Given the description of an element on the screen output the (x, y) to click on. 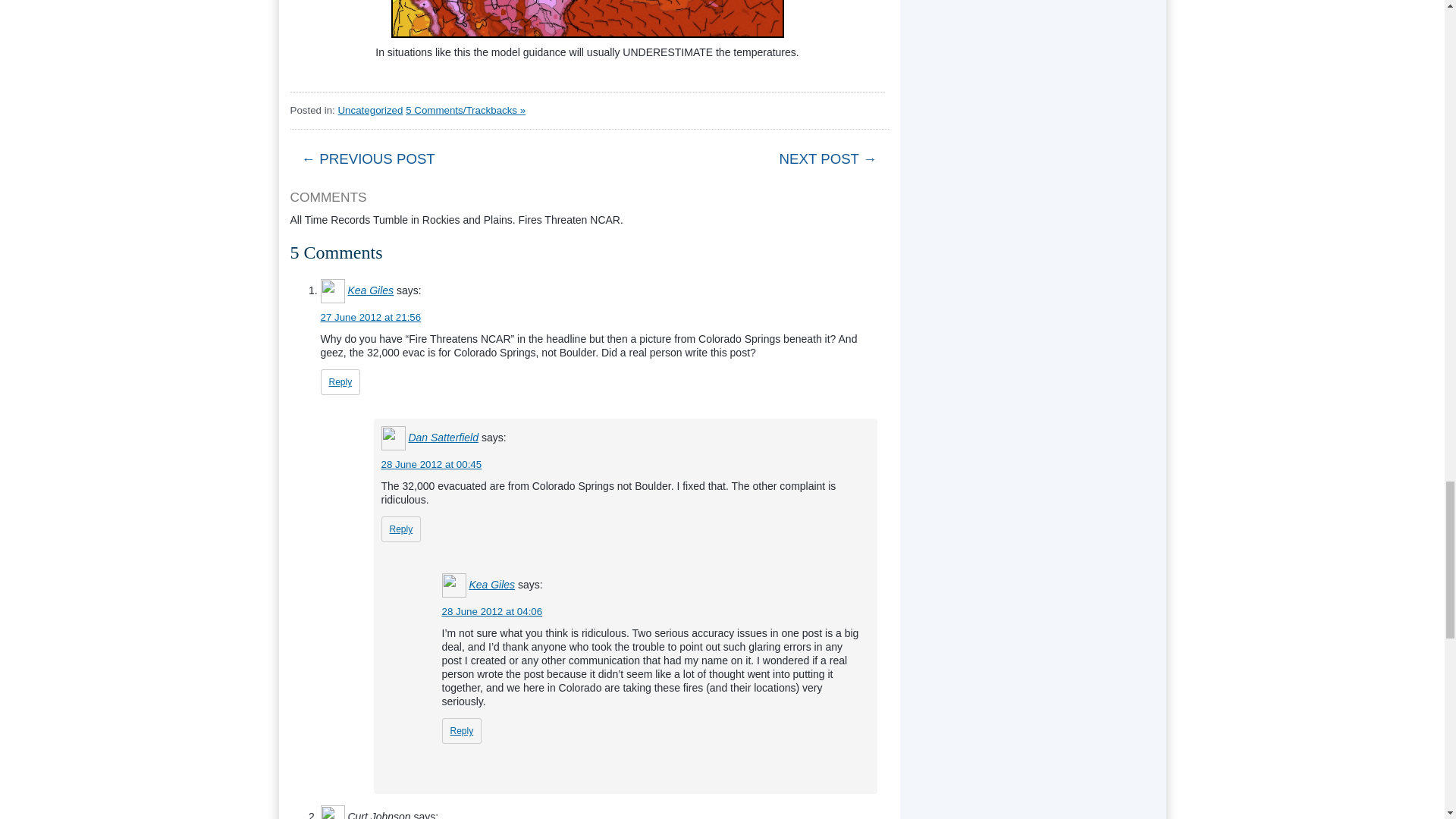
27 June 2012 at 21:56 (370, 317)
28 June 2012 at 04:06 (491, 611)
Uncategorized (370, 110)
Kea Giles (491, 584)
Reply (400, 529)
28 June 2012 at 00:45 (430, 464)
Reply (339, 381)
Dan Satterfield (443, 437)
Screen Shot 2012-06-27 at 02.01.40 (587, 18)
Kea Giles (370, 290)
Reply (461, 730)
